Given the description of an element on the screen output the (x, y) to click on. 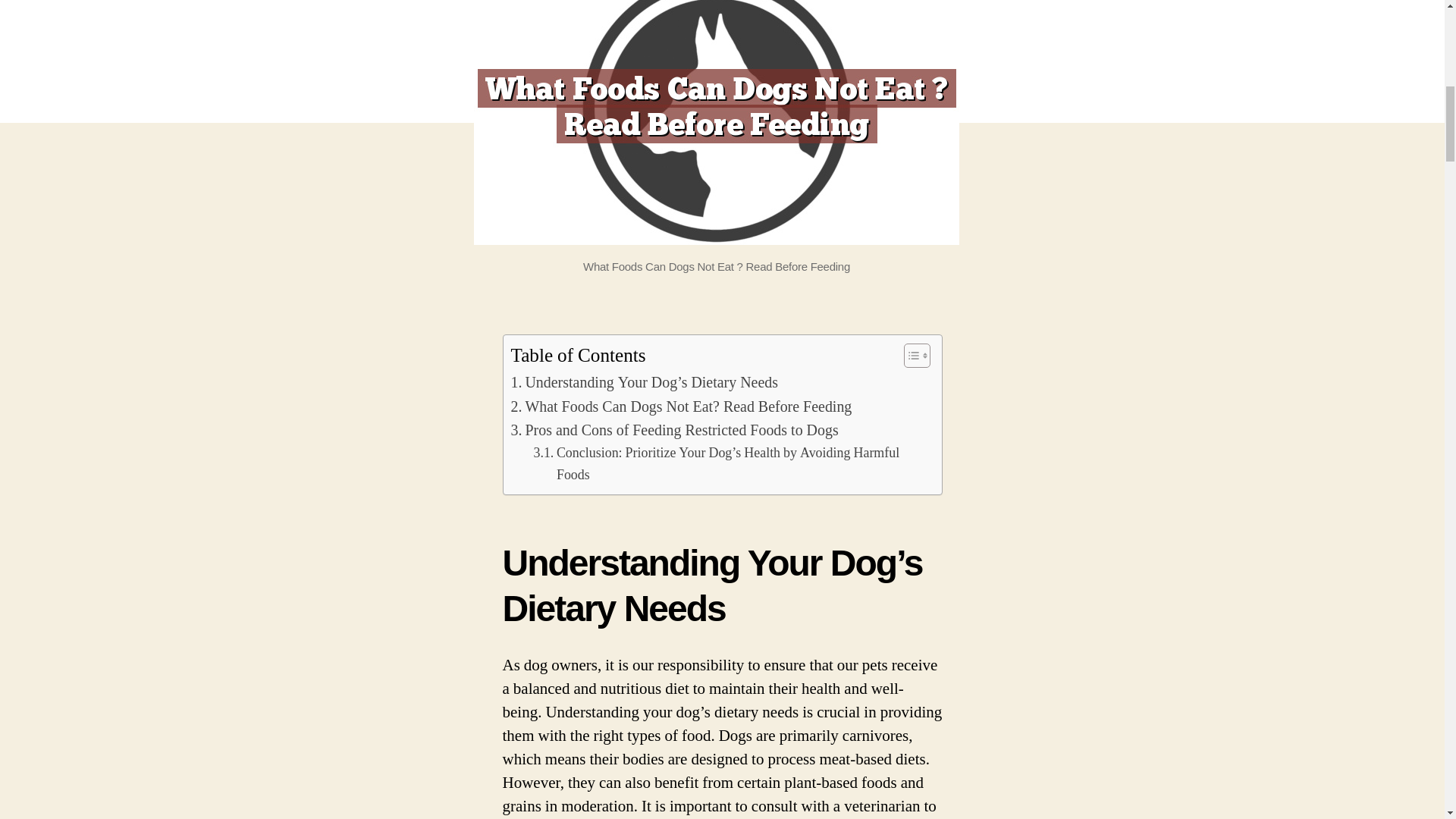
What Foods Can Dogs Not Eat? Read Before Feeding (681, 406)
Pros and Cons of Feeding Restricted Foods to Dogs (674, 430)
What Foods Can Dogs Not Eat? Read Before Feeding (681, 406)
Pros and Cons of Feeding Restricted Foods to Dogs (674, 430)
